Given the description of an element on the screen output the (x, y) to click on. 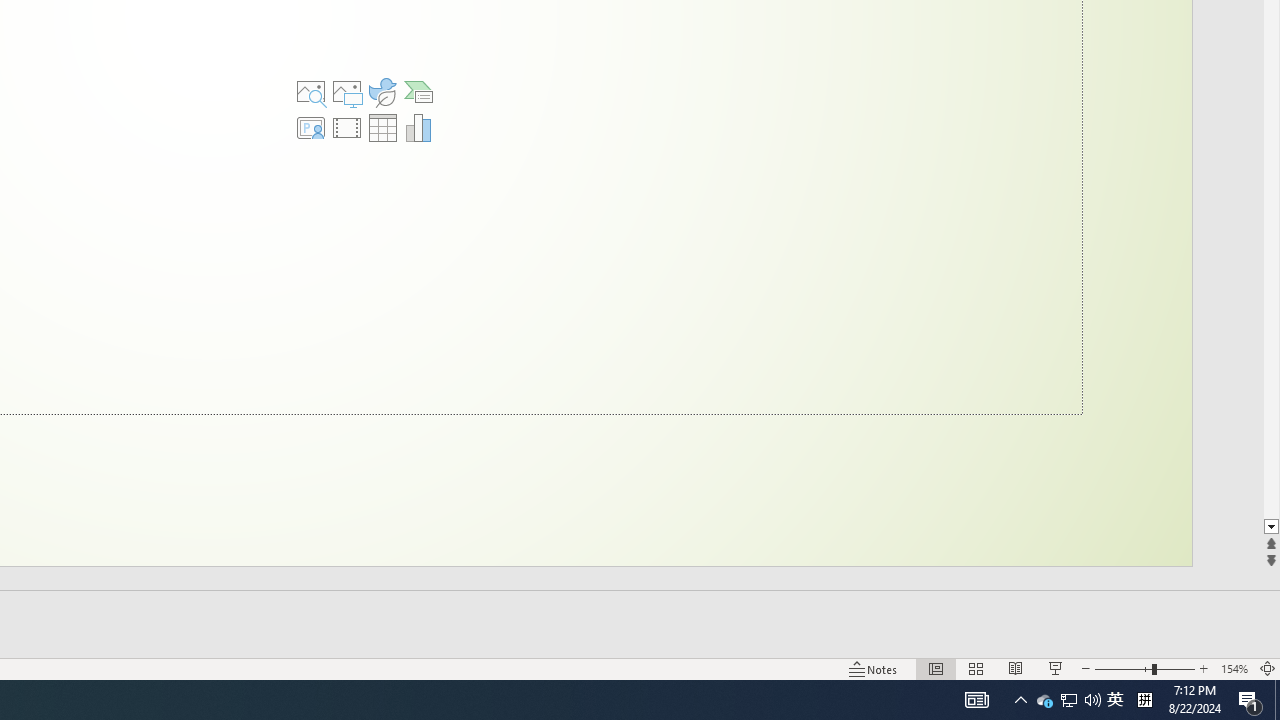
Insert Chart (419, 128)
Insert Video (347, 128)
